Given the description of an element on the screen output the (x, y) to click on. 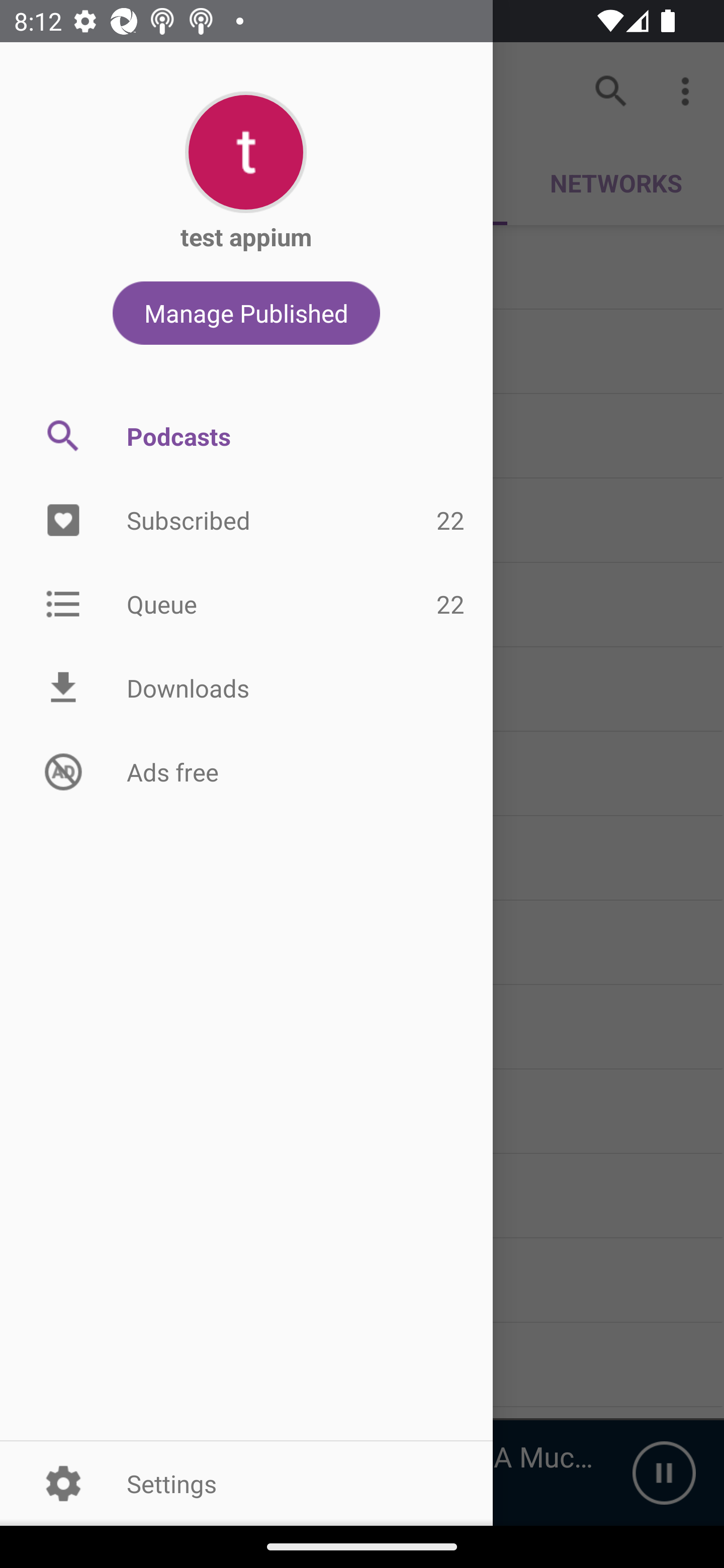
Manage Published (246, 312)
Picture Podcasts (246, 435)
Picture Subscribed 22 (246, 520)
Picture Queue 22 (246, 603)
Picture Downloads (246, 688)
Picture Ads free (246, 771)
Settings Picture Settings (246, 1482)
